Given the description of an element on the screen output the (x, y) to click on. 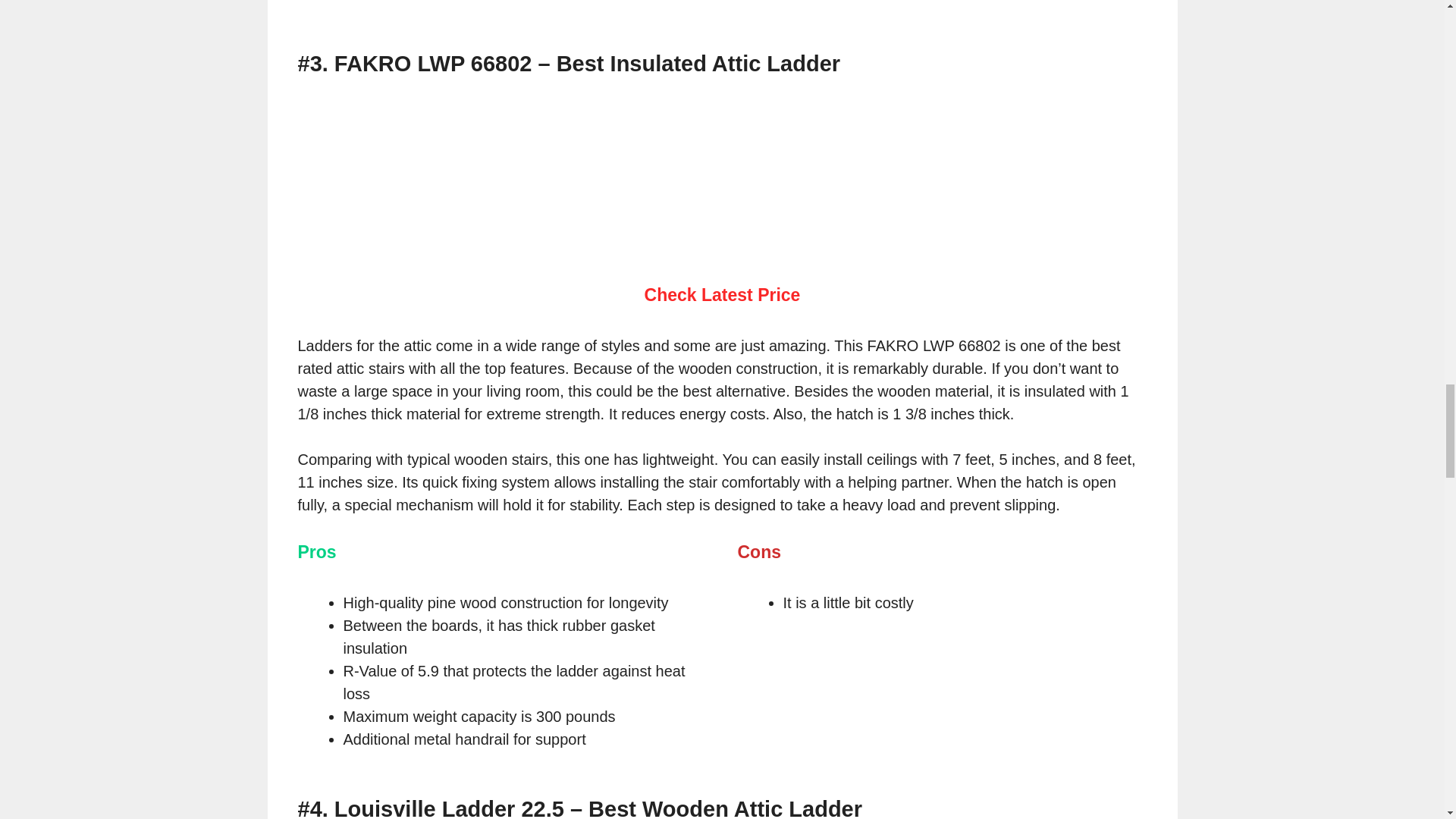
Check Latest Price (722, 294)
